Given the description of an element on the screen output the (x, y) to click on. 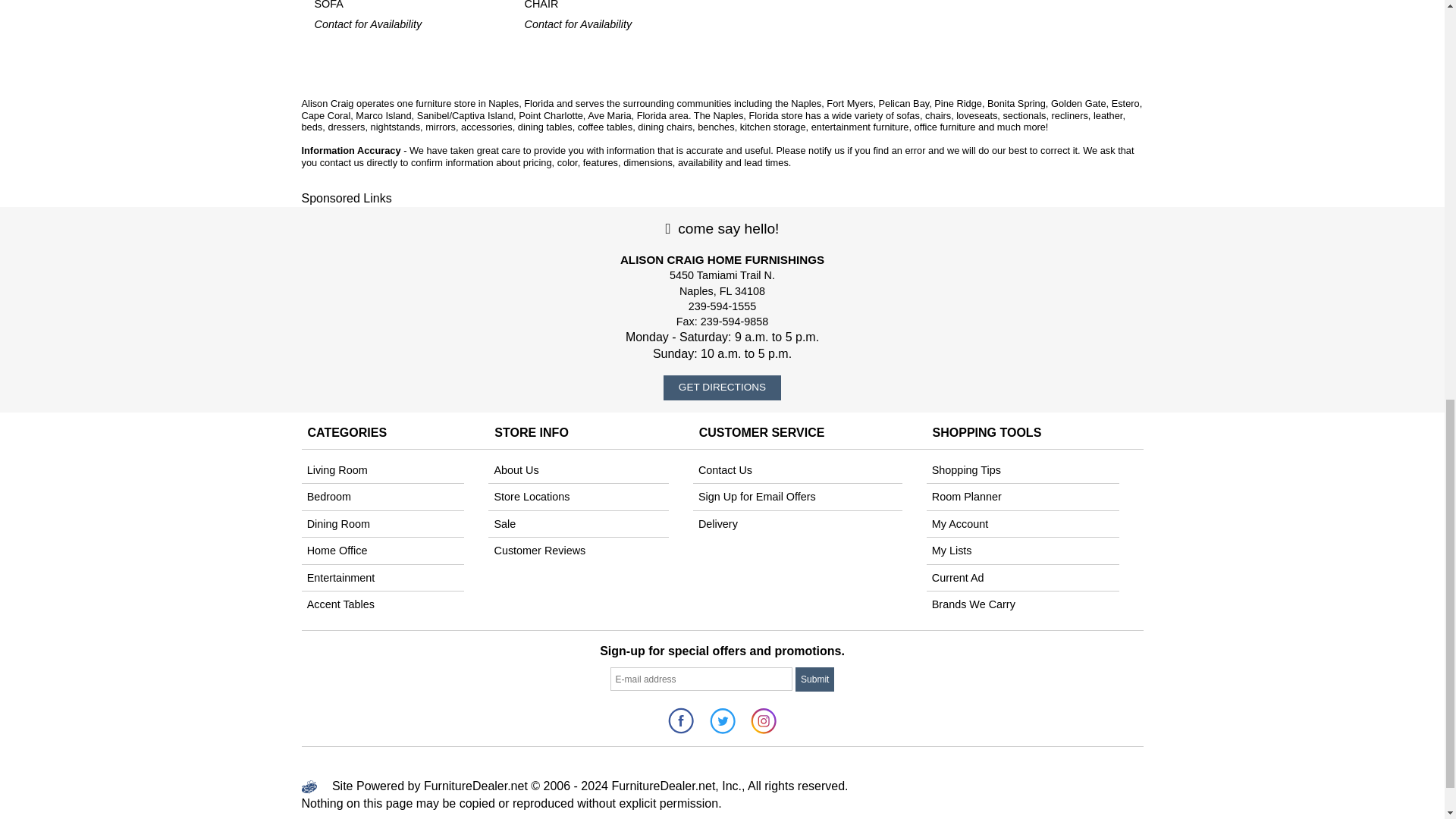
Submit (814, 679)
Click to view this Item. (381, 5)
Click to view this Item. (592, 5)
